Given the description of an element on the screen output the (x, y) to click on. 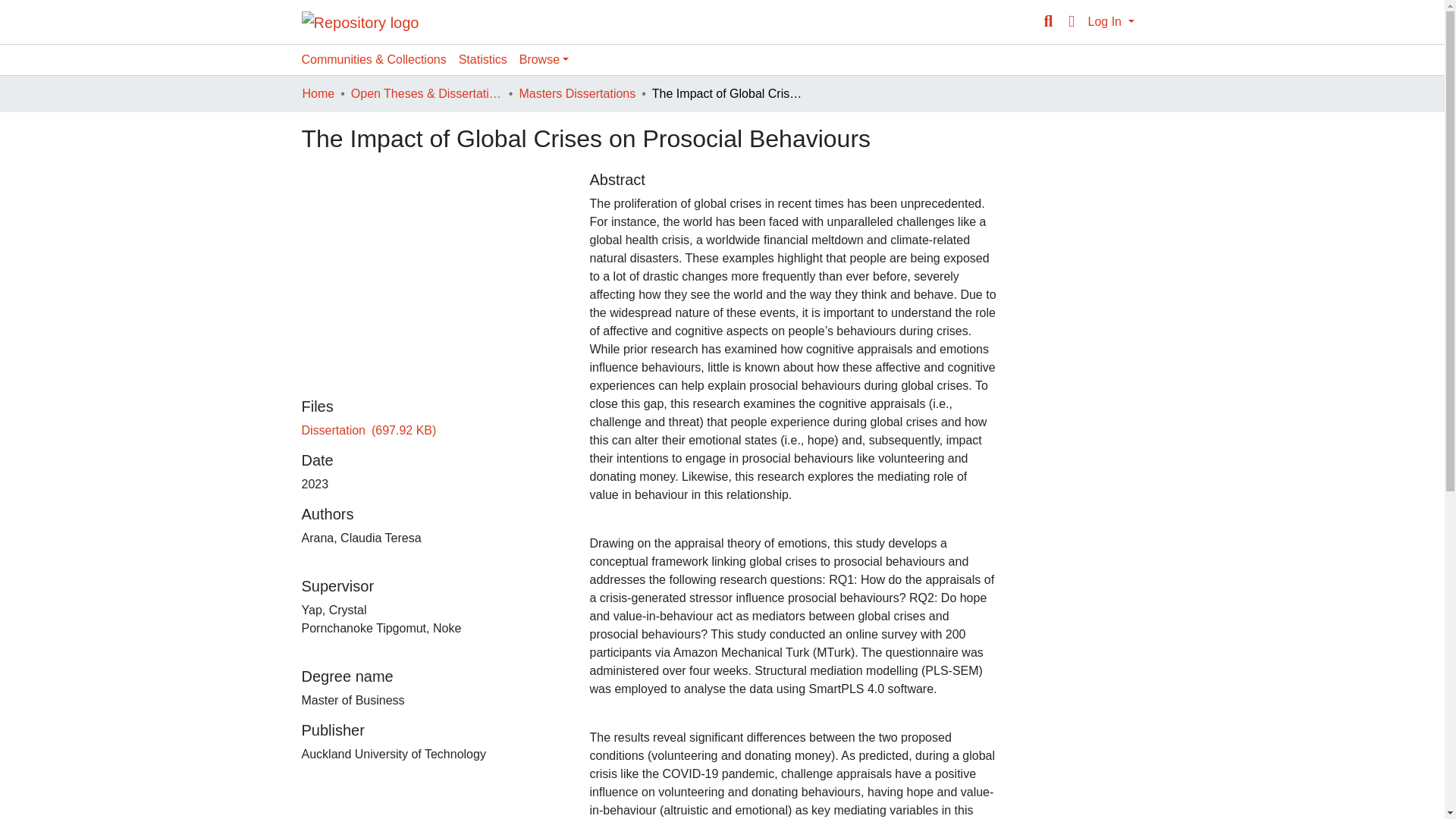
Statistics (482, 60)
Browse (544, 60)
Log In (1110, 21)
Statistics (482, 60)
Language switch (1071, 22)
Home (317, 94)
Masters Dissertations (576, 94)
Search (1048, 22)
